Given the description of an element on the screen output the (x, y) to click on. 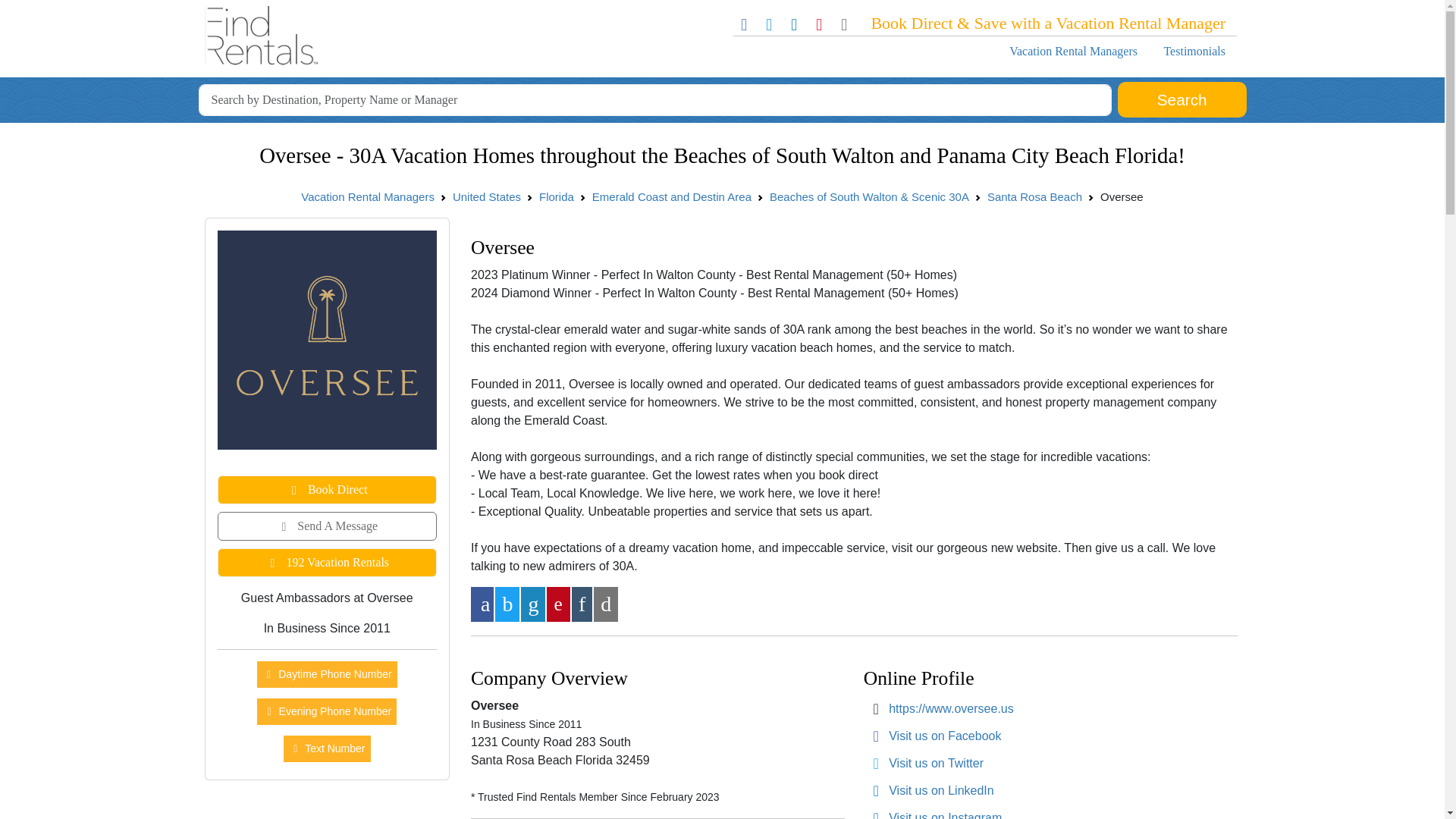
Santa Rosa Beach (1034, 196)
United States (486, 196)
Emerald Coast and Destin Area (671, 196)
Testimonials (1194, 51)
Visit us on LinkedIn (940, 789)
Vacation Rental Managers (367, 196)
Visit us on Facebook (944, 735)
Book Direct (326, 489)
192 Vacation Rentals (326, 562)
Search (1182, 99)
